Given the description of an element on the screen output the (x, y) to click on. 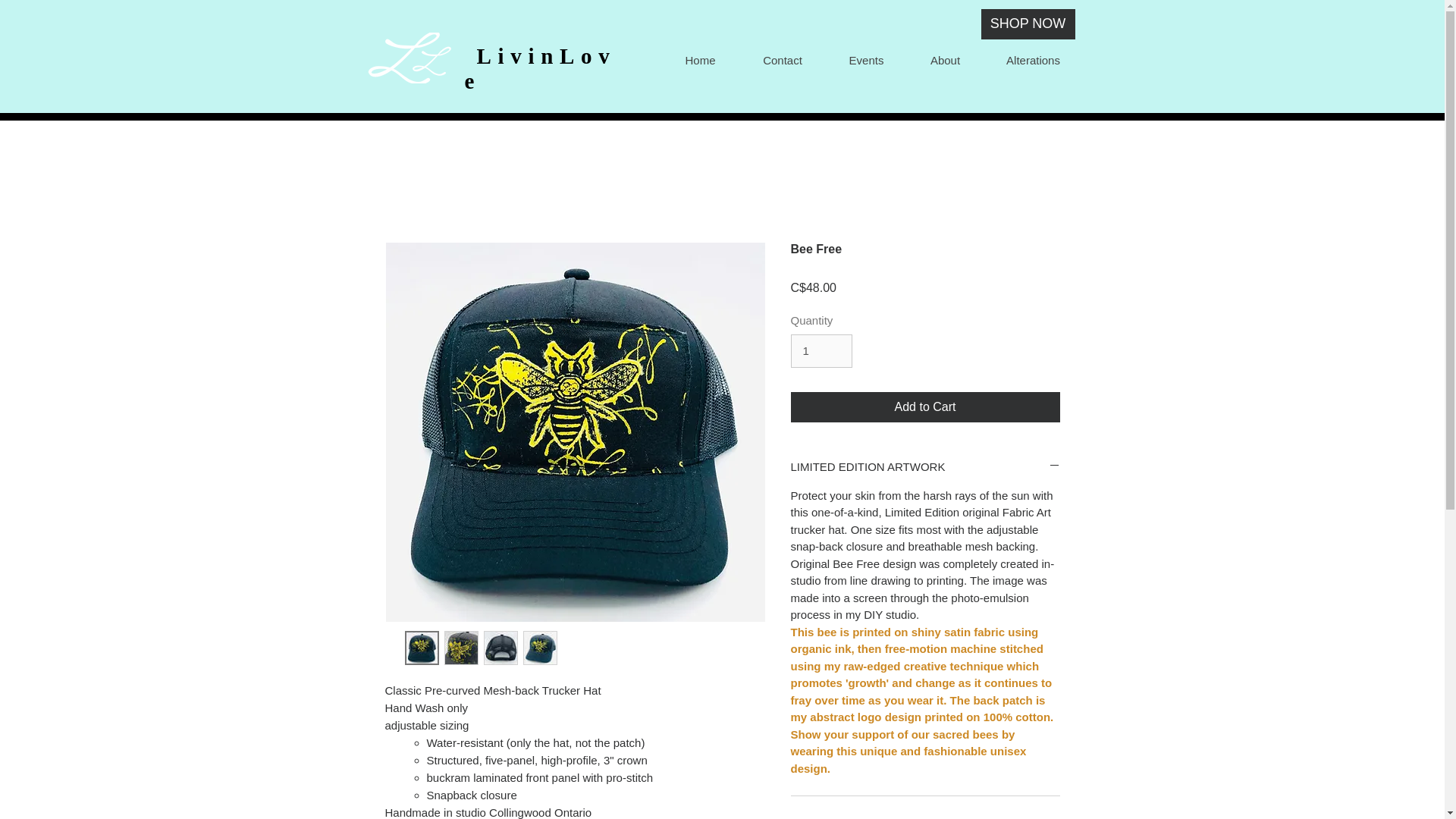
Events (865, 59)
About (945, 59)
Add to Cart (924, 407)
 LivinLove (539, 68)
Home (699, 59)
Contact (781, 59)
SHOP NOW (1028, 24)
Alterations (1031, 59)
LIMITED EDITION ARTWORK (924, 466)
RETURN AND EXCHANGE POLICY (924, 816)
1 (820, 350)
